Given the description of an element on the screen output the (x, y) to click on. 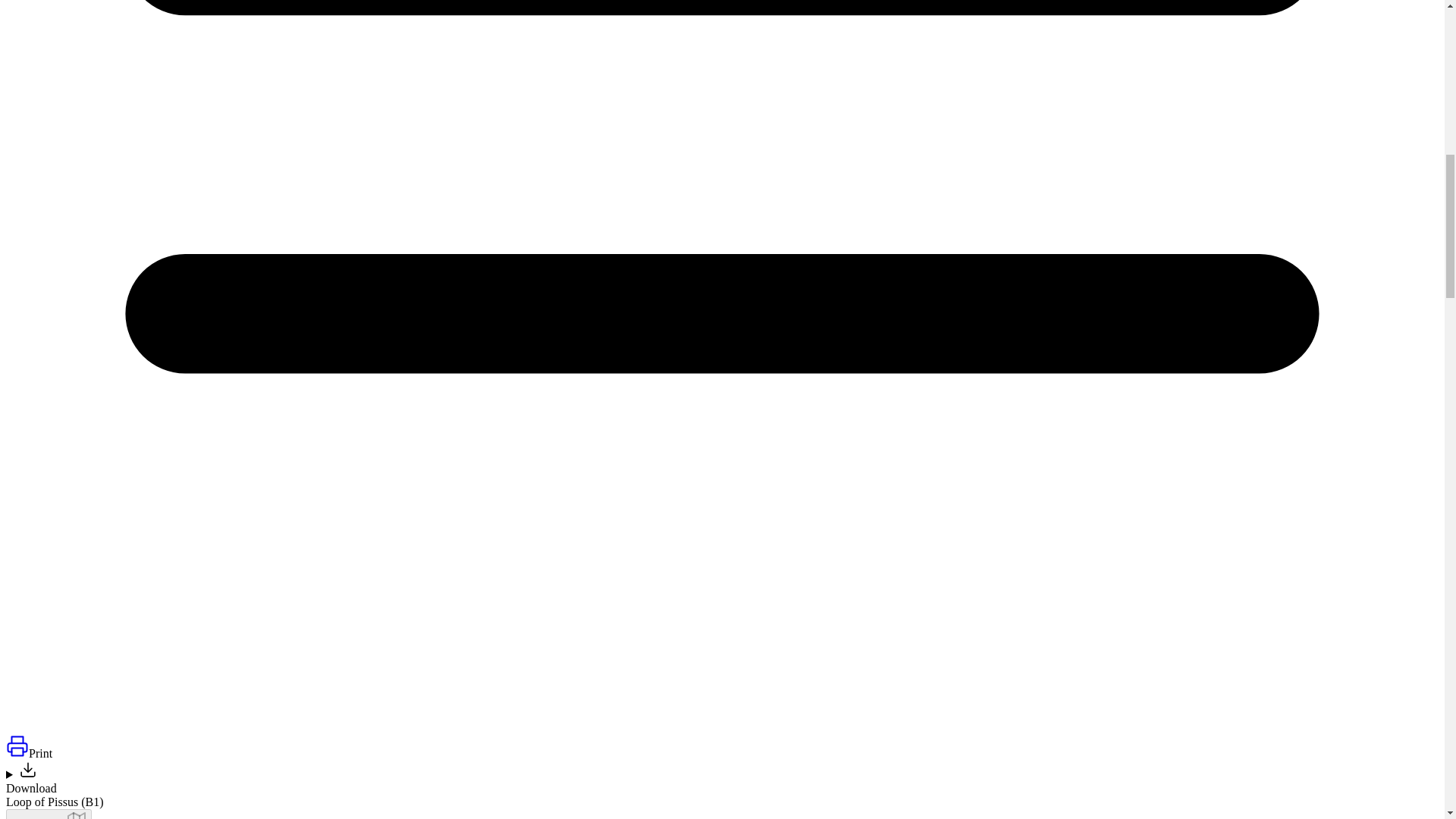
Display Map (48, 814)
